Given the description of an element on the screen output the (x, y) to click on. 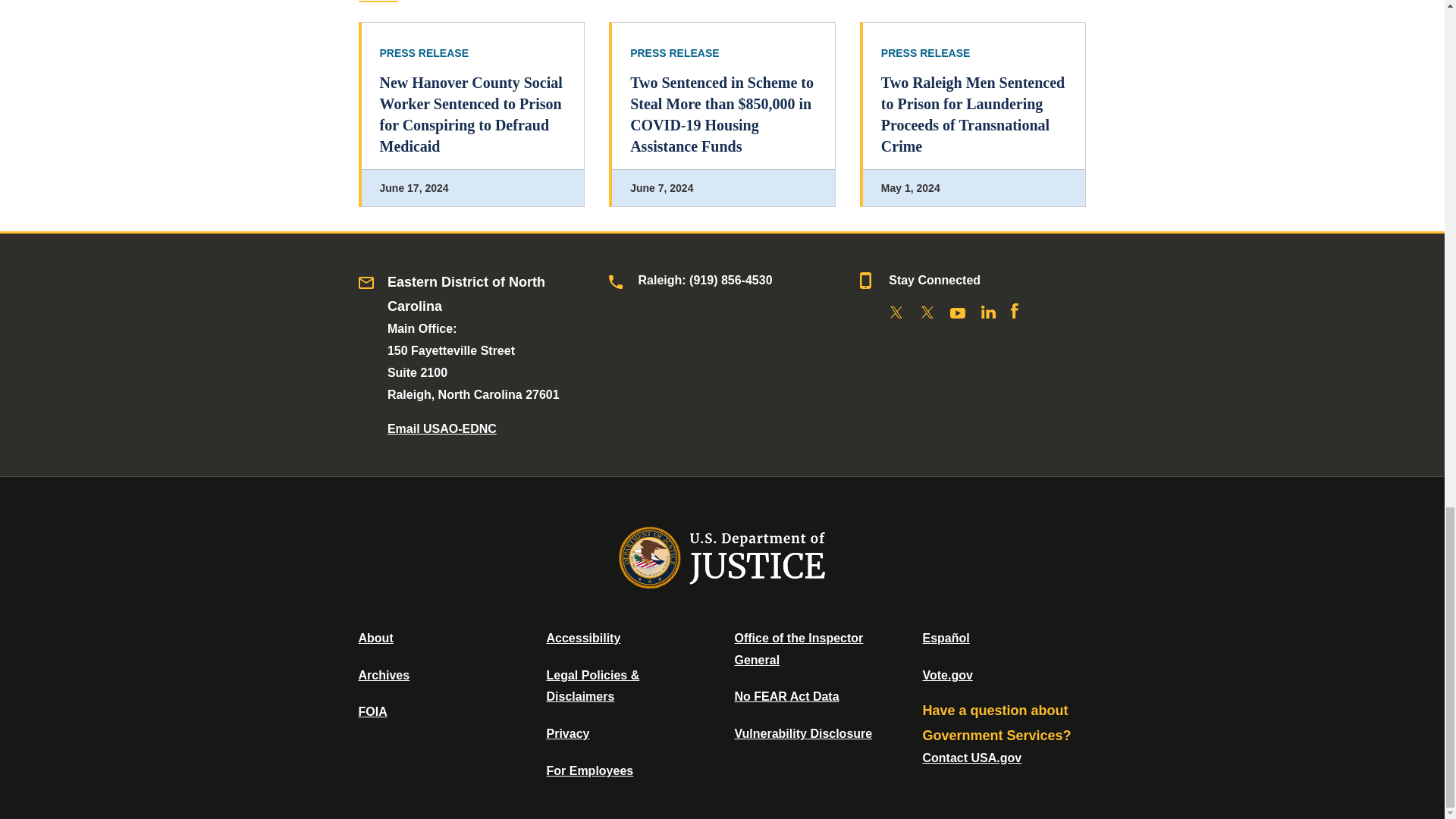
Legal Policies and Disclaimers (592, 686)
Data Posted Pursuant To The No Fear Act (785, 696)
Accessibility Statement (583, 637)
Department of Justice Archive (383, 675)
Office of Information Policy (372, 711)
For Employees (589, 770)
About DOJ (375, 637)
